Given the description of an element on the screen output the (x, y) to click on. 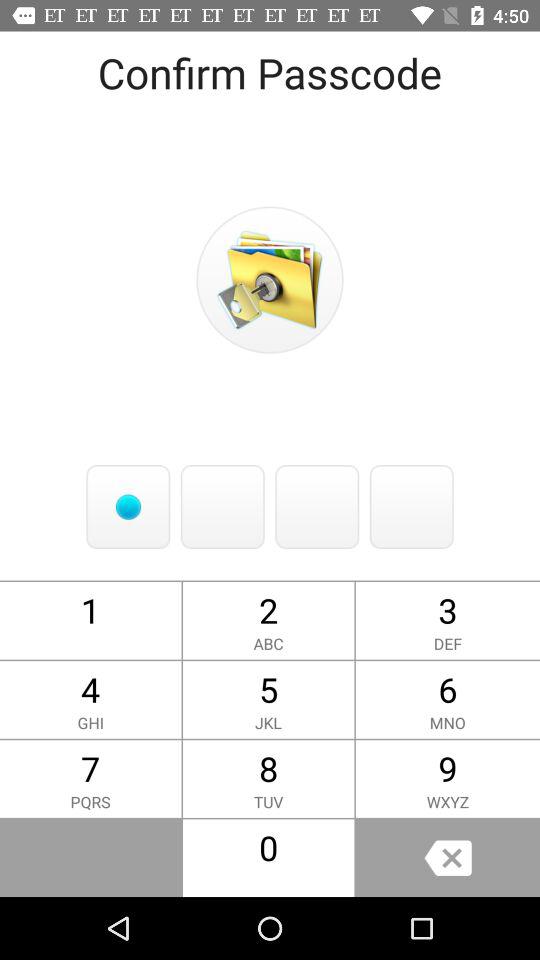
delete (447, 858)
